Given the description of an element on the screen output the (x, y) to click on. 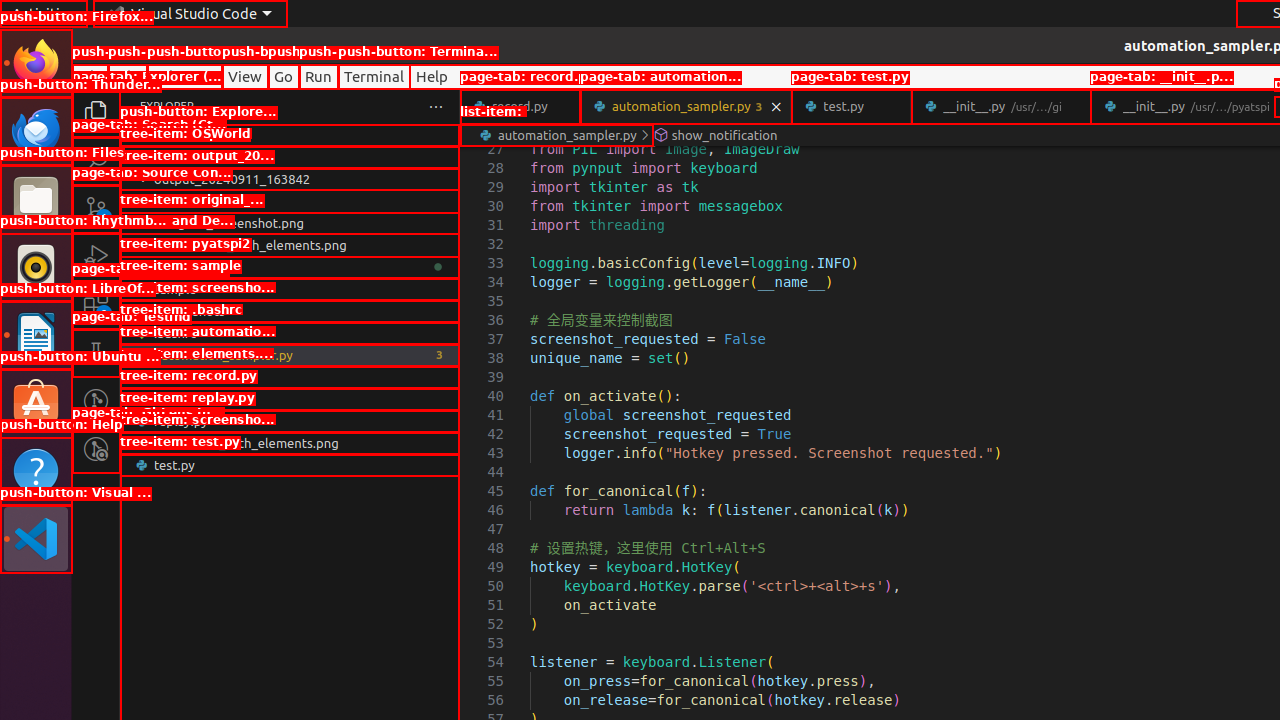
Edit Element type: push-button (127, 76)
output_20240911_163842 Element type: tree-item (289, 179)
Firefox Web Browser Element type: push-button (36, 63)
View Element type: push-button (245, 76)
